Given the description of an element on the screen output the (x, y) to click on. 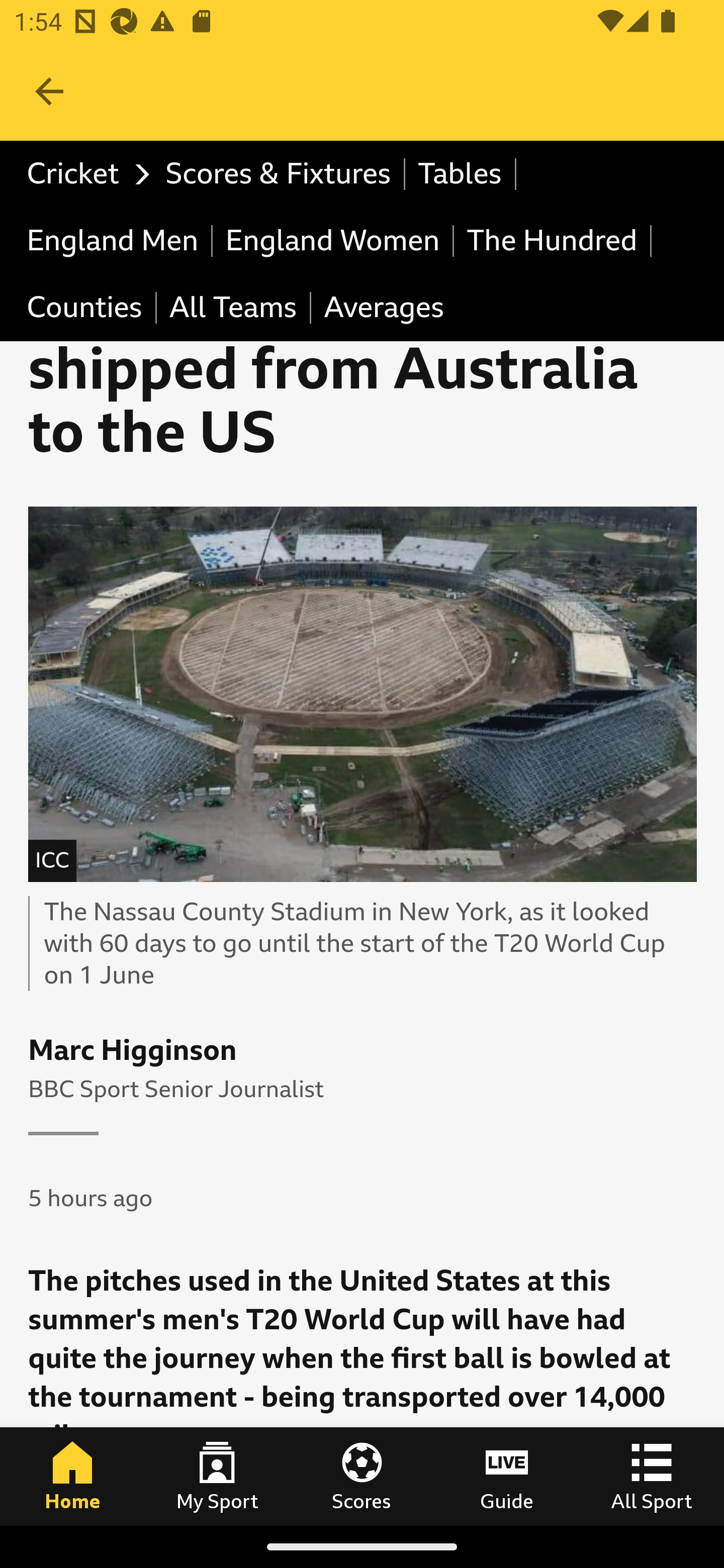
Navigate up (49, 91)
Cricket (83, 173)
Scores & Fixtures (278, 173)
Tables (460, 173)
England Men (114, 240)
England Women (333, 240)
The Hundred (552, 240)
Counties (85, 308)
All Teams (233, 308)
Averages (383, 308)
My Sport (216, 1475)
Scores (361, 1475)
Guide (506, 1475)
All Sport (651, 1475)
